Given the description of an element on the screen output the (x, y) to click on. 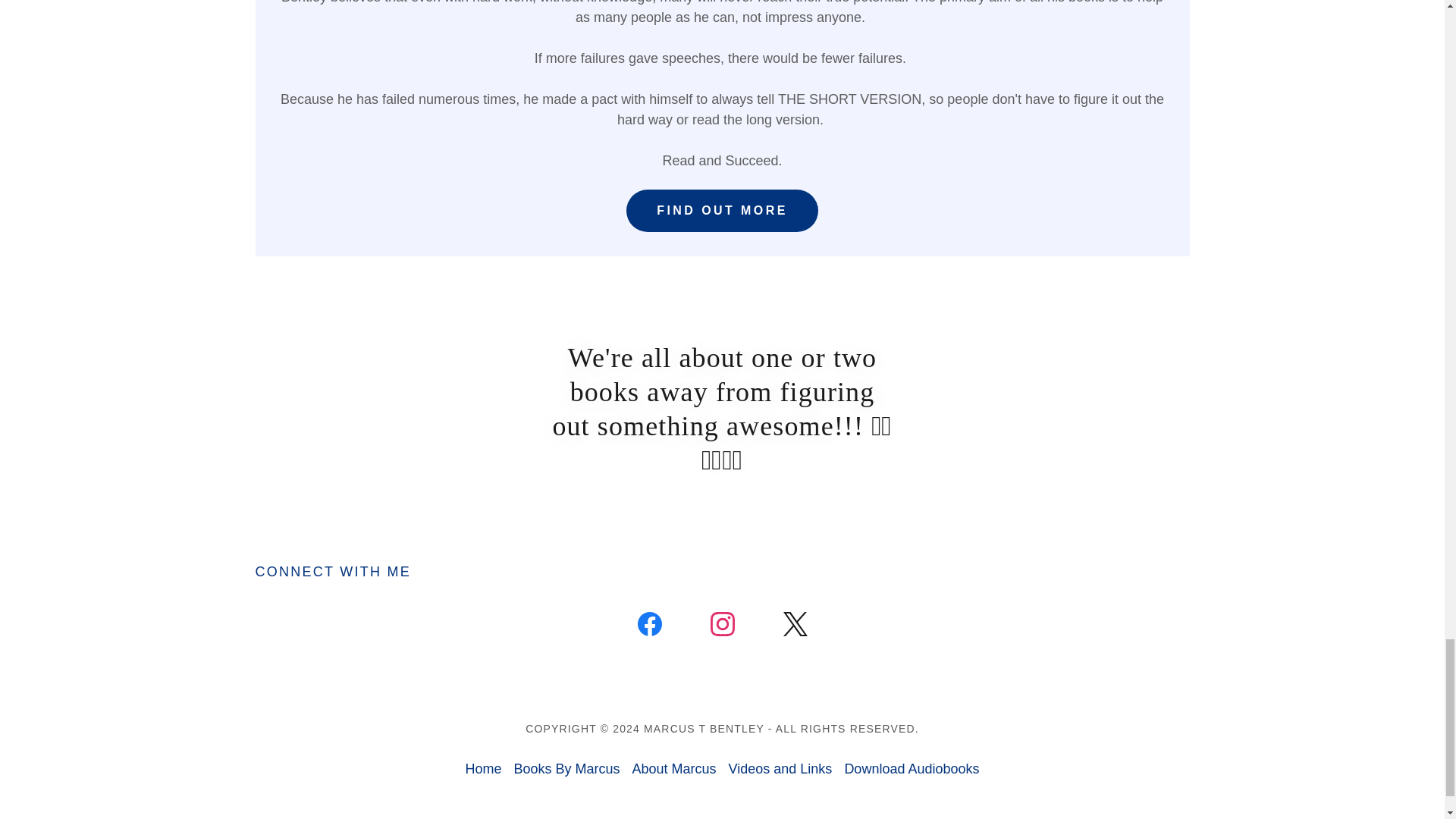
Home (482, 768)
Books By Marcus (566, 768)
About Marcus (674, 768)
Videos and Links (780, 768)
FIND OUT MORE (722, 210)
Download Audiobooks (911, 768)
